Given the description of an element on the screen output the (x, y) to click on. 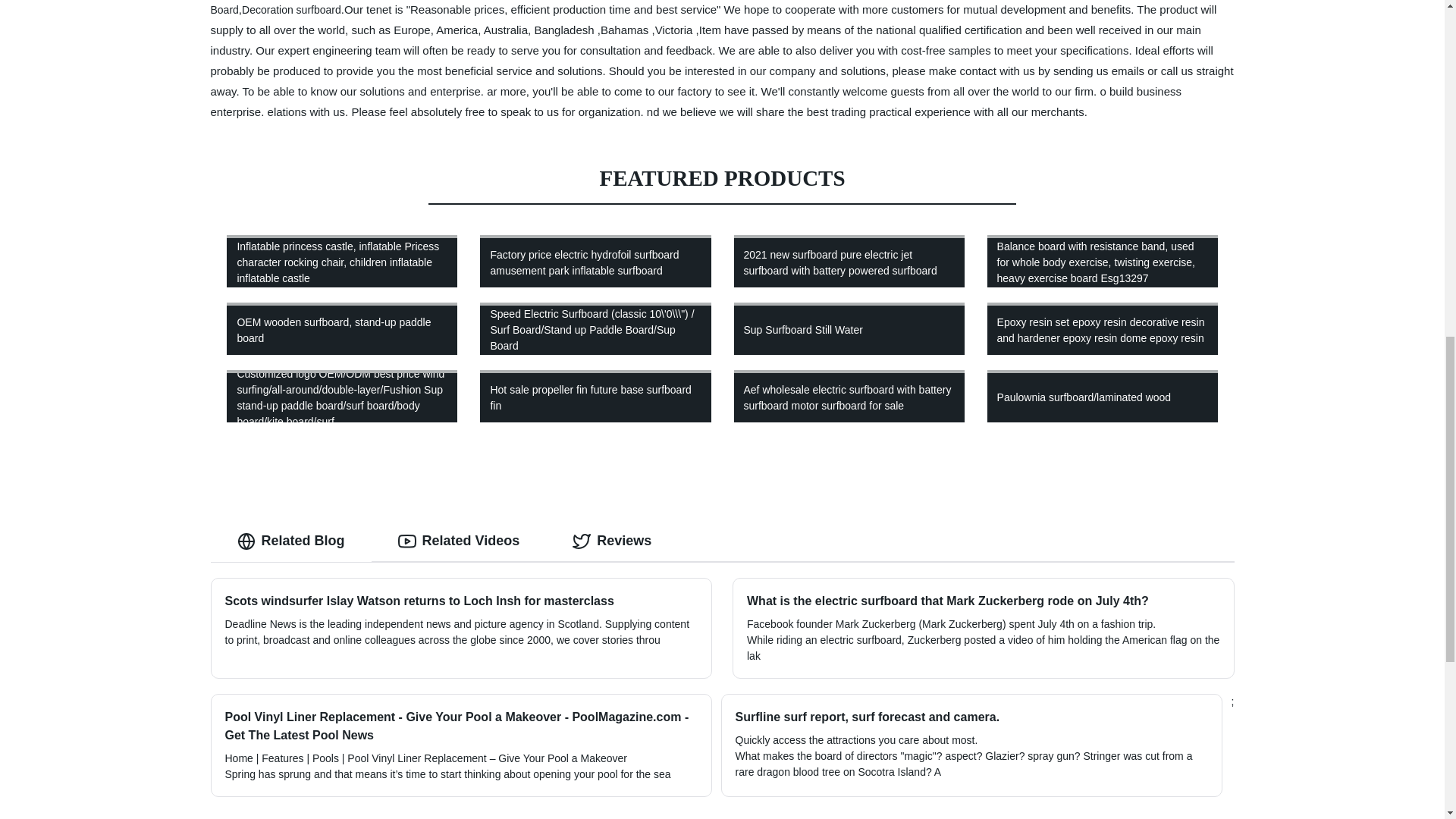
Decoration surfboard (290, 9)
Kite Surfing Board (716, 7)
Kite Surfing Board (716, 7)
Decoration surfboard (290, 9)
OEM wooden surfboard, stand-up paddle board (341, 328)
